Given the description of an element on the screen output the (x, y) to click on. 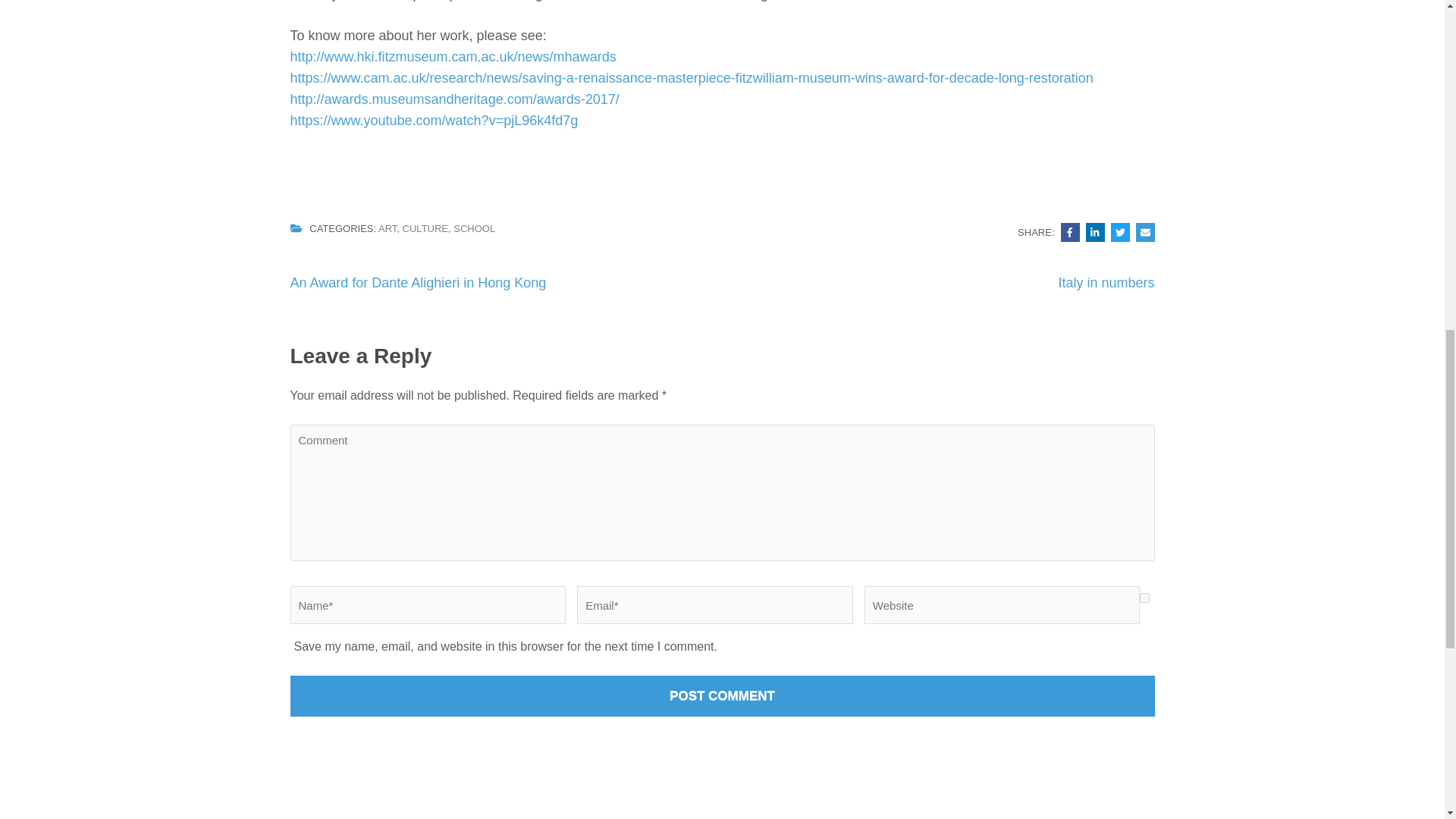
yes (1145, 597)
Post Comment (721, 695)
